Given the description of an element on the screen output the (x, y) to click on. 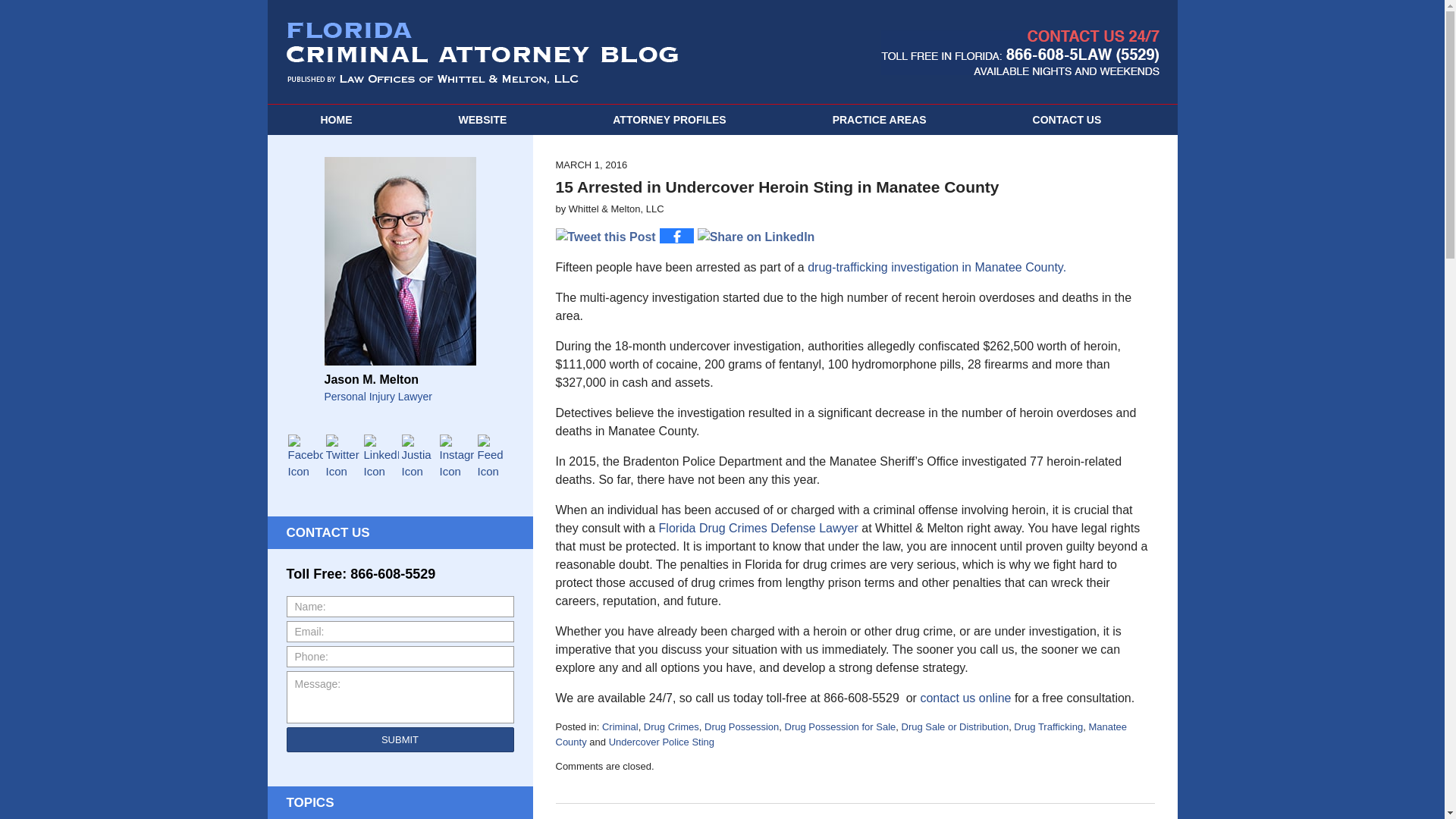
View all posts in Undercover Police Sting (661, 741)
drug-trafficking investigation in Manatee County. (936, 267)
HOME (335, 119)
SUBMIT (399, 739)
Drug Possession for Sale (840, 726)
Drug Trafficking (1048, 726)
Florida Criminal Attorney Blog (482, 53)
View all posts in Drug Possession for Sale (840, 726)
Florida Drug Crimes Defense Lawyer (759, 527)
